Given the description of an element on the screen output the (x, y) to click on. 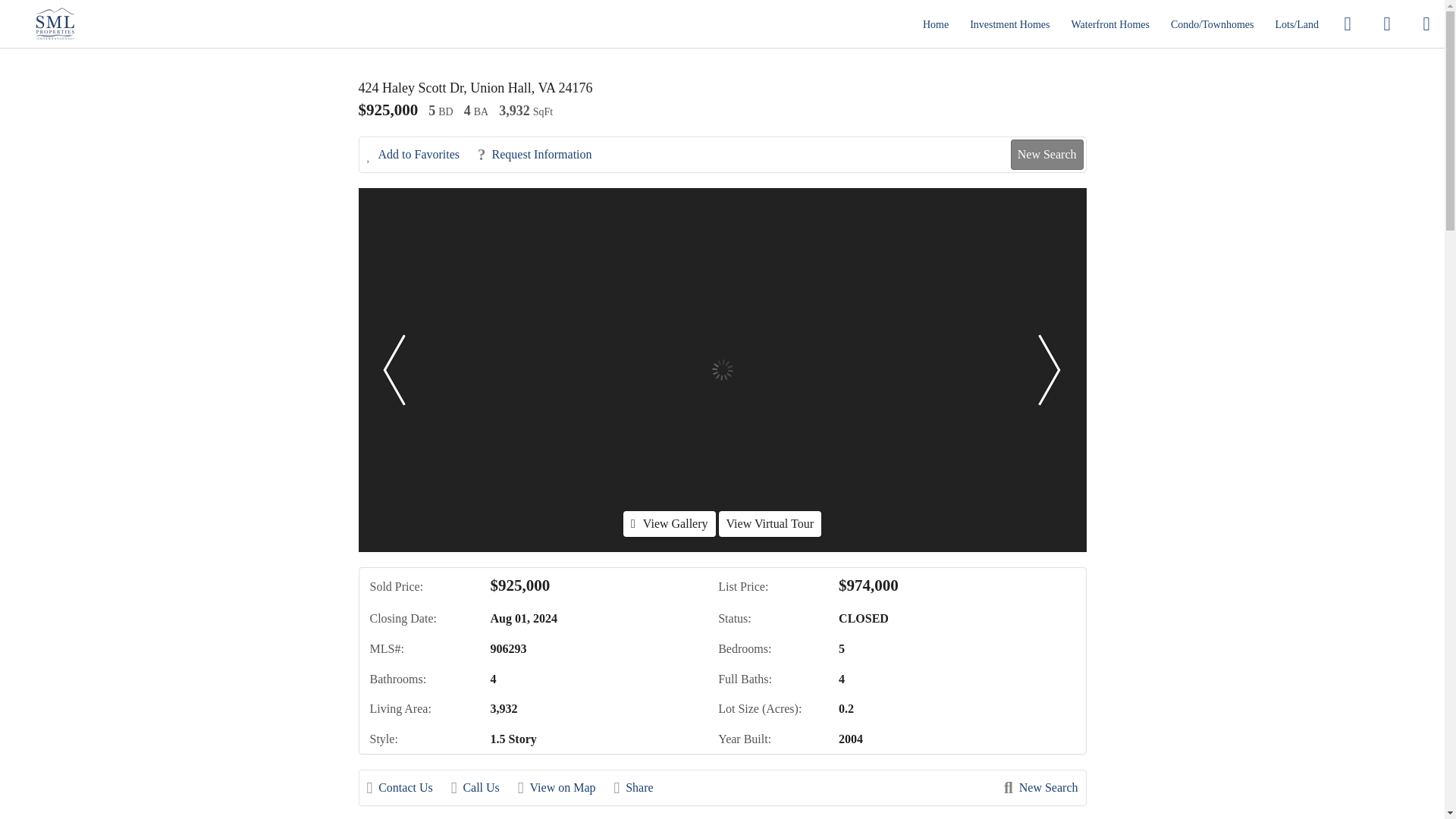
View on Map (564, 787)
Contact Us (407, 787)
Home (936, 24)
Waterfront Homes (1110, 24)
View Gallery (669, 522)
Call Us (483, 787)
Share (641, 787)
View Virtual Tour (770, 522)
View Gallery (669, 524)
Add to Favorites (421, 154)
Request Information (542, 154)
New Search (1040, 787)
Investment Homes (1009, 24)
New Search (1046, 154)
View Virtual Tour (770, 524)
